Given the description of an element on the screen output the (x, y) to click on. 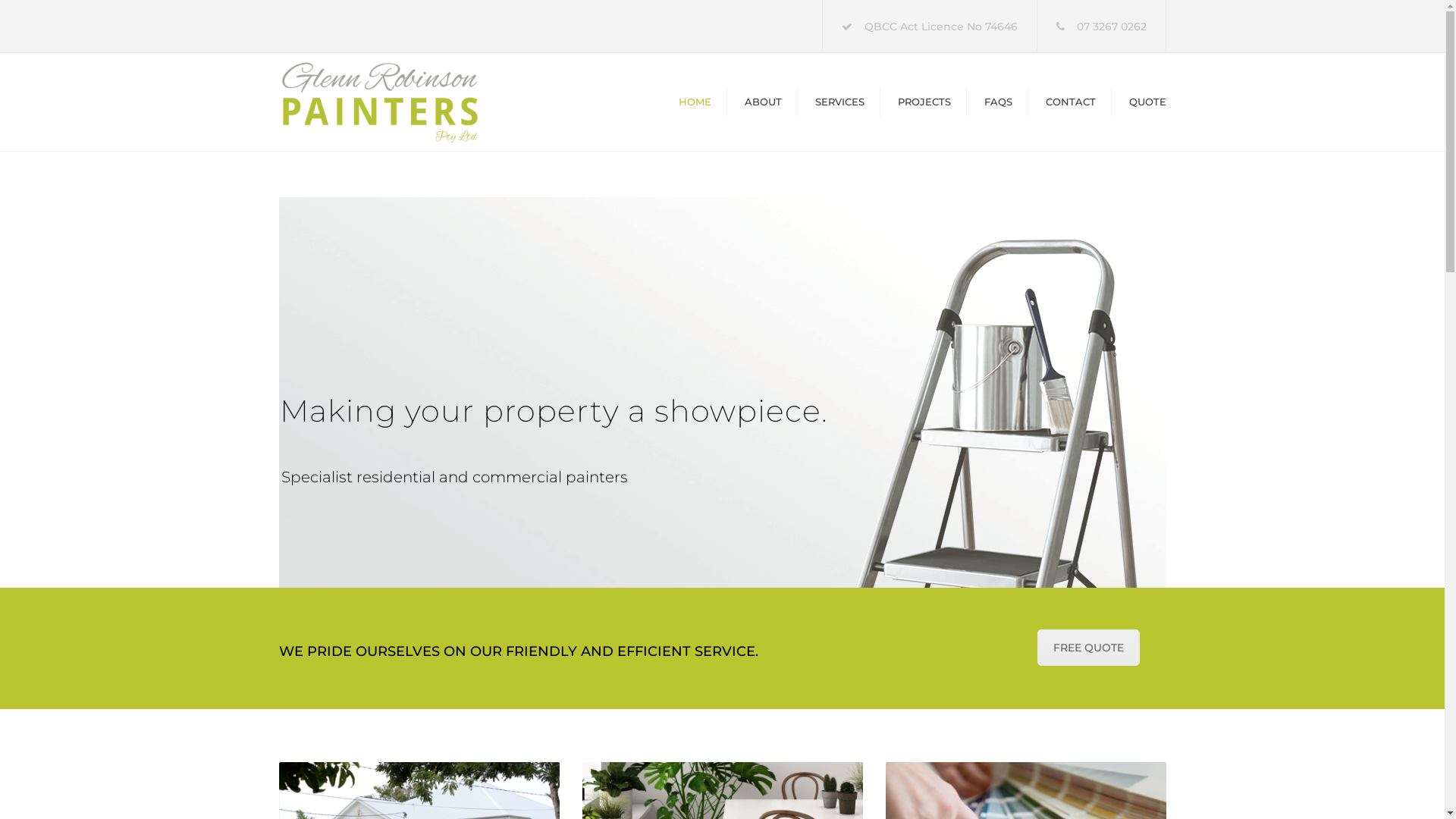
FREE QUOTE Element type: text (1088, 647)
FAQS Element type: text (997, 101)
PROJECTS Element type: text (924, 101)
SERVICES Element type: text (838, 101)
CONTACT Element type: text (1069, 101)
QUOTE Element type: text (1146, 101)
HOME Element type: text (694, 101)
ABOUT Element type: text (763, 101)
